Given the description of an element on the screen output the (x, y) to click on. 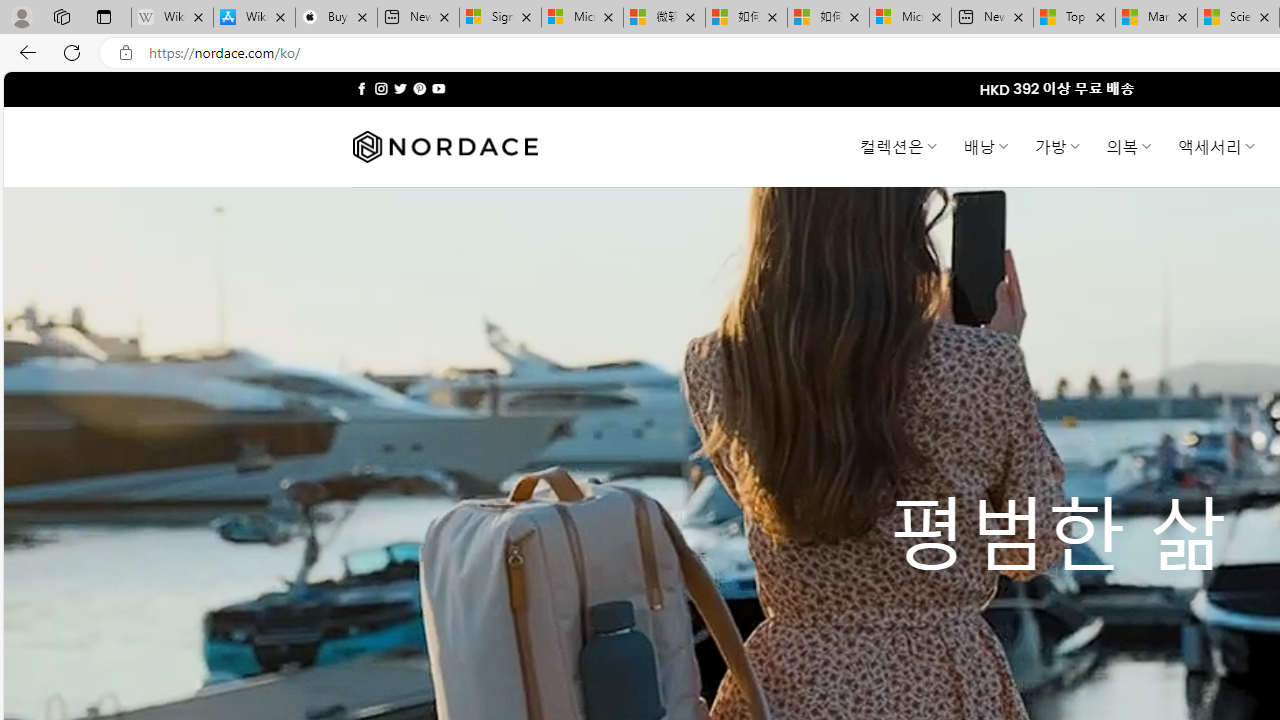
Nordace (444, 147)
Top Stories - MSN (1074, 17)
Wikipedia - Sleeping (171, 17)
Close tab (1264, 16)
Follow on YouTube (438, 88)
Tab actions menu (104, 16)
Follow on Twitter (400, 88)
Marine life - MSN (1156, 17)
Follow on Instagram (381, 88)
Back (24, 52)
Refresh (72, 52)
